Given the description of an element on the screen output the (x, y) to click on. 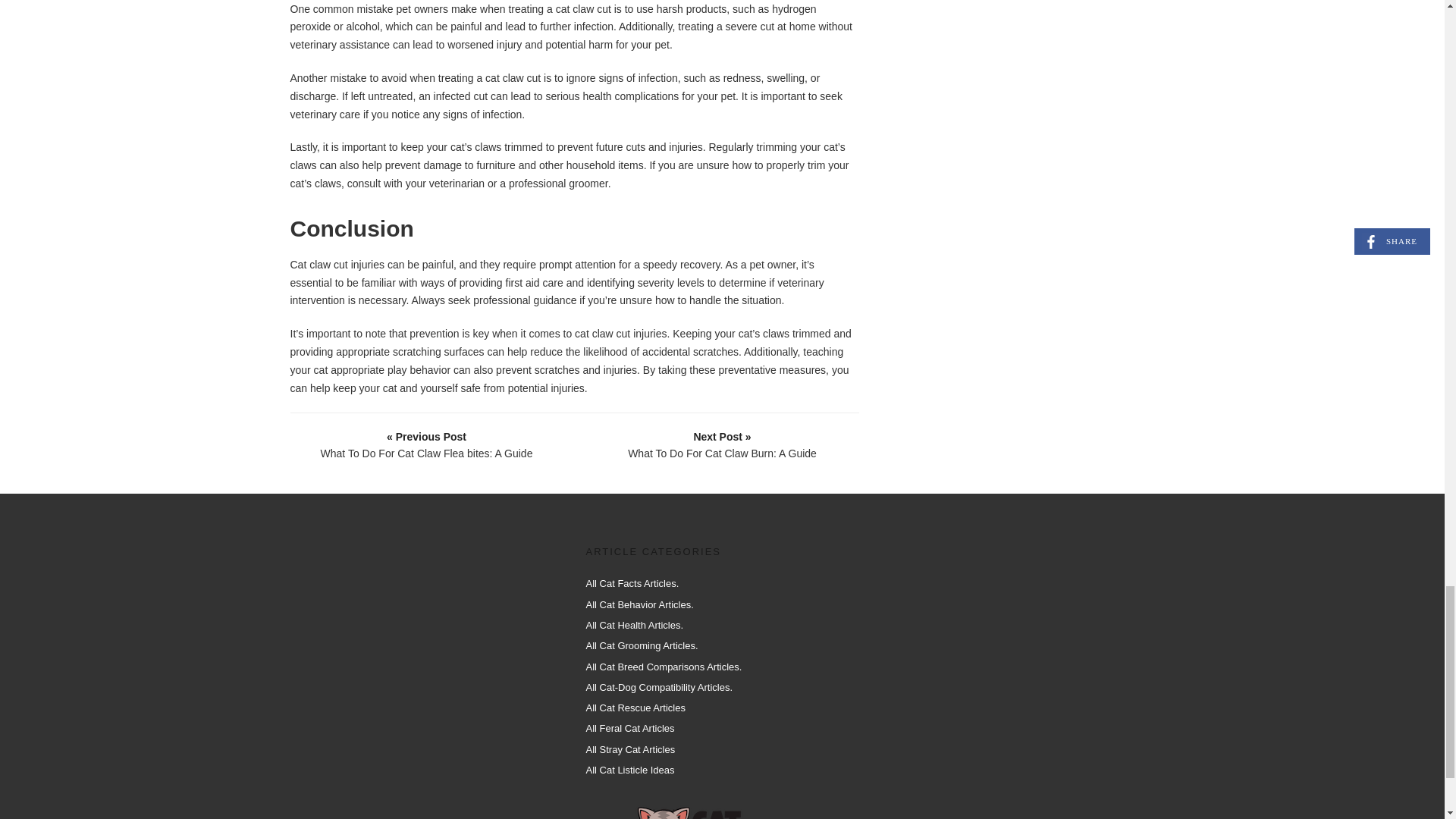
All Stray Cat Articles (630, 749)
All Cat Grooming Articles. (641, 645)
All Cat Facts Articles. (631, 583)
The Cat Bandit Blog (716, 811)
All Cat Breed Comparisons Articles. (663, 666)
What To Do For Cat Claw Flea bites: A Guide (427, 444)
All Feral Cat Articles (629, 727)
What To Do For Cat Claw Burn: A Guide (722, 444)
All Cat-Dog Compatibility Articles. (658, 686)
All Cat Rescue Articles (635, 707)
All Cat Behavior Articles. (639, 604)
All Cat Health Articles. (633, 624)
